Given the description of an element on the screen output the (x, y) to click on. 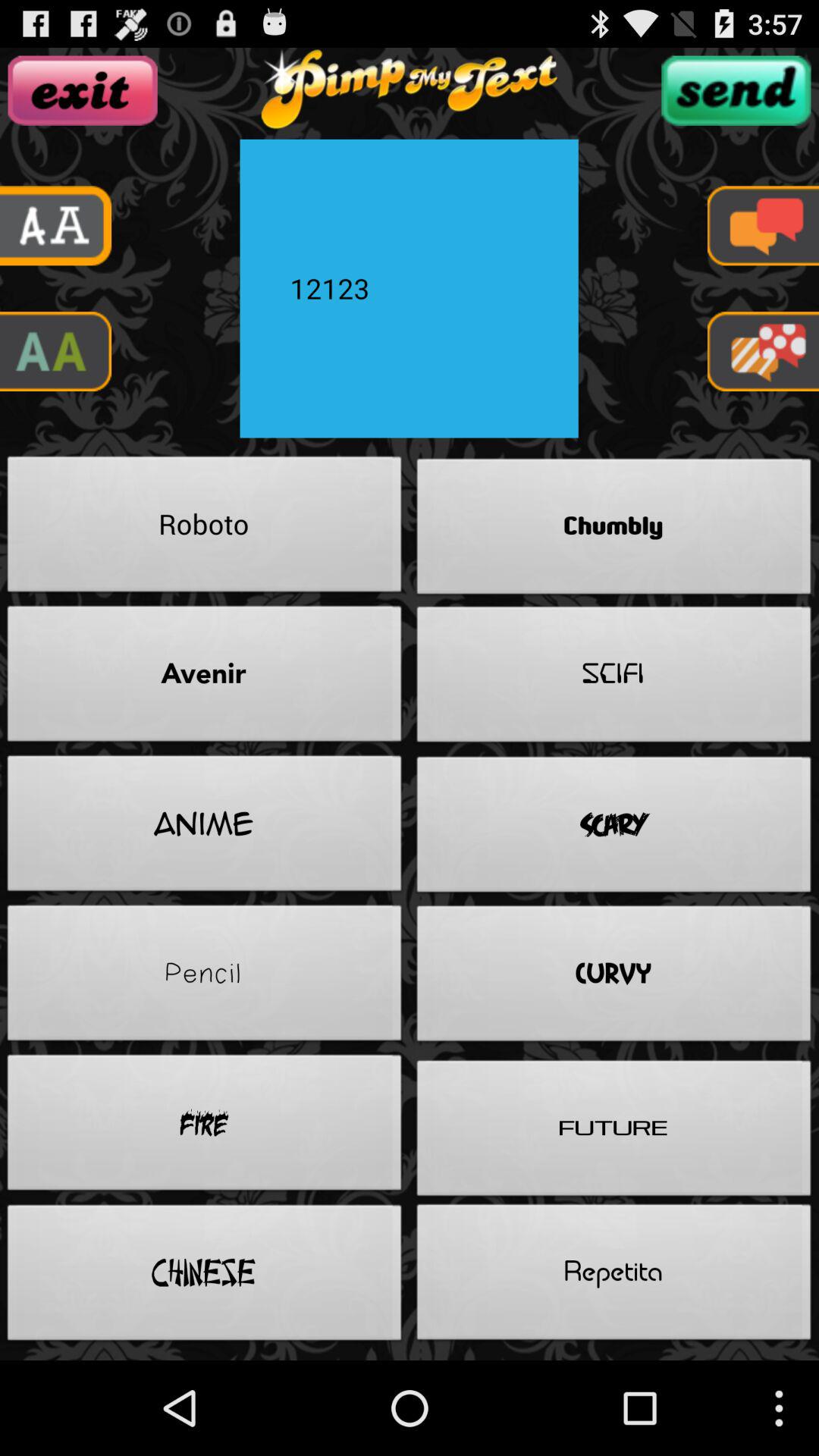
go exit (82, 90)
